Given the description of an element on the screen output the (x, y) to click on. 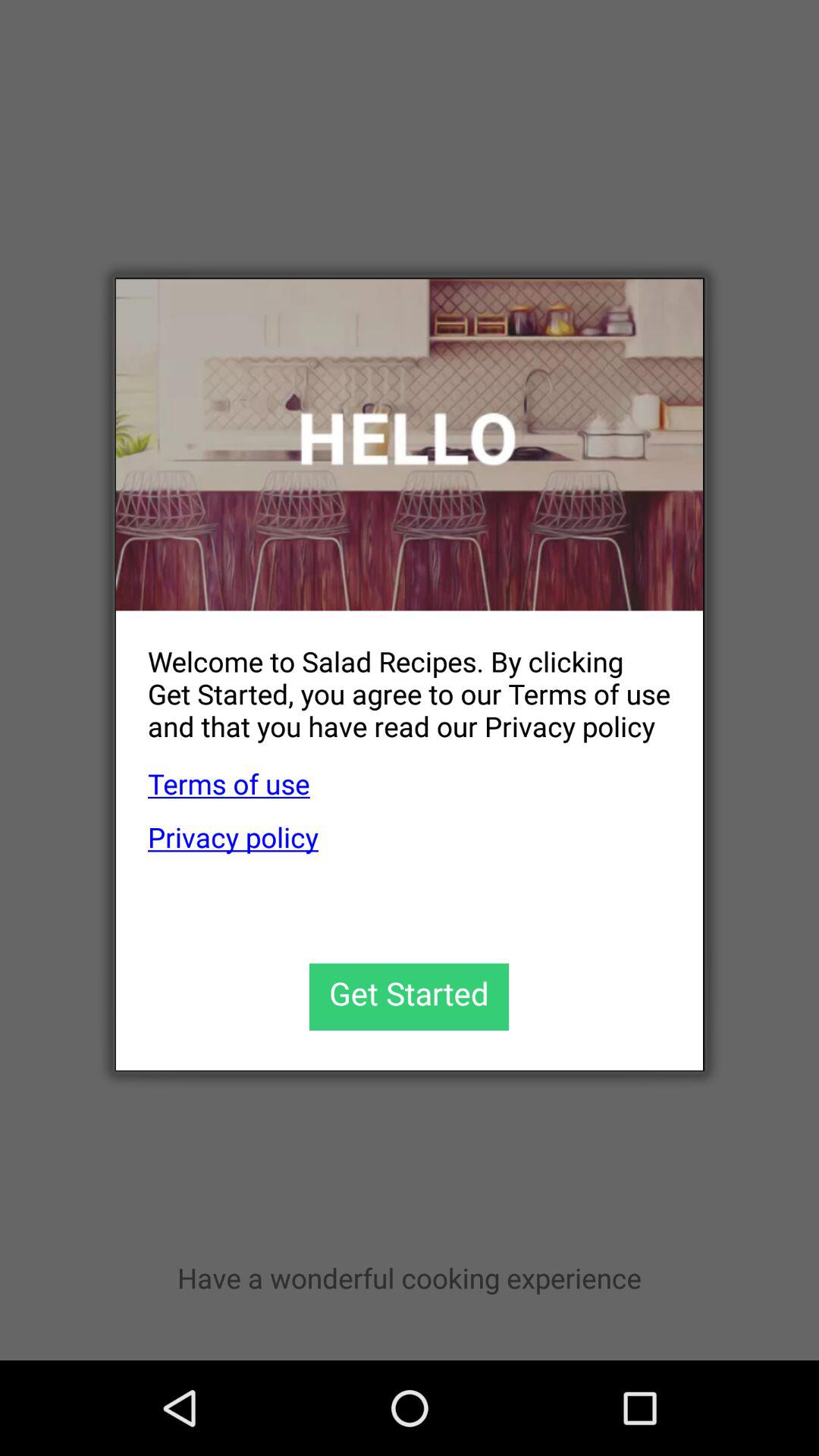
agree to terms and privacy policies (409, 996)
